Given the description of an element on the screen output the (x, y) to click on. 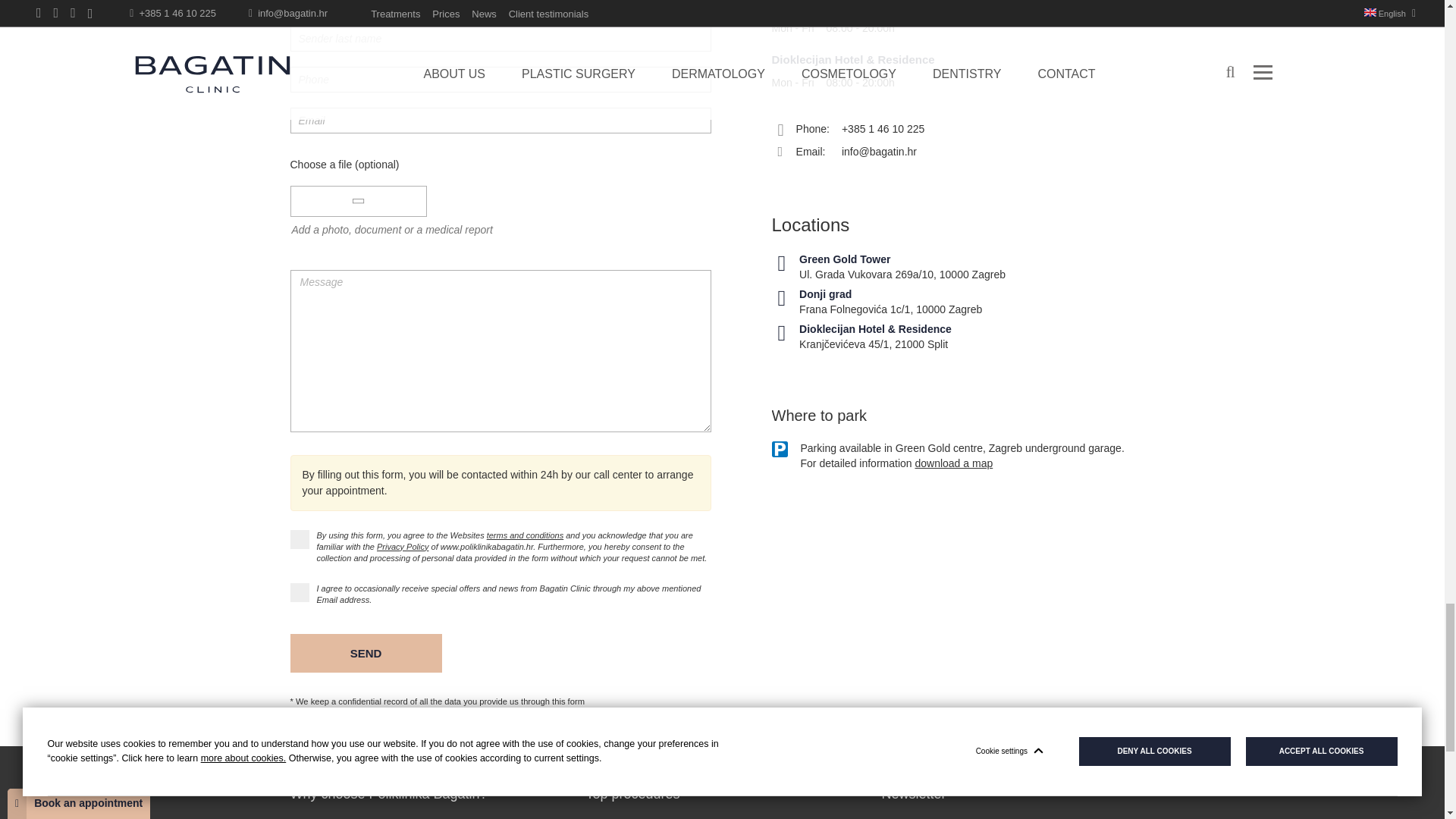
SEND (365, 652)
